Given the description of an element on the screen output the (x, y) to click on. 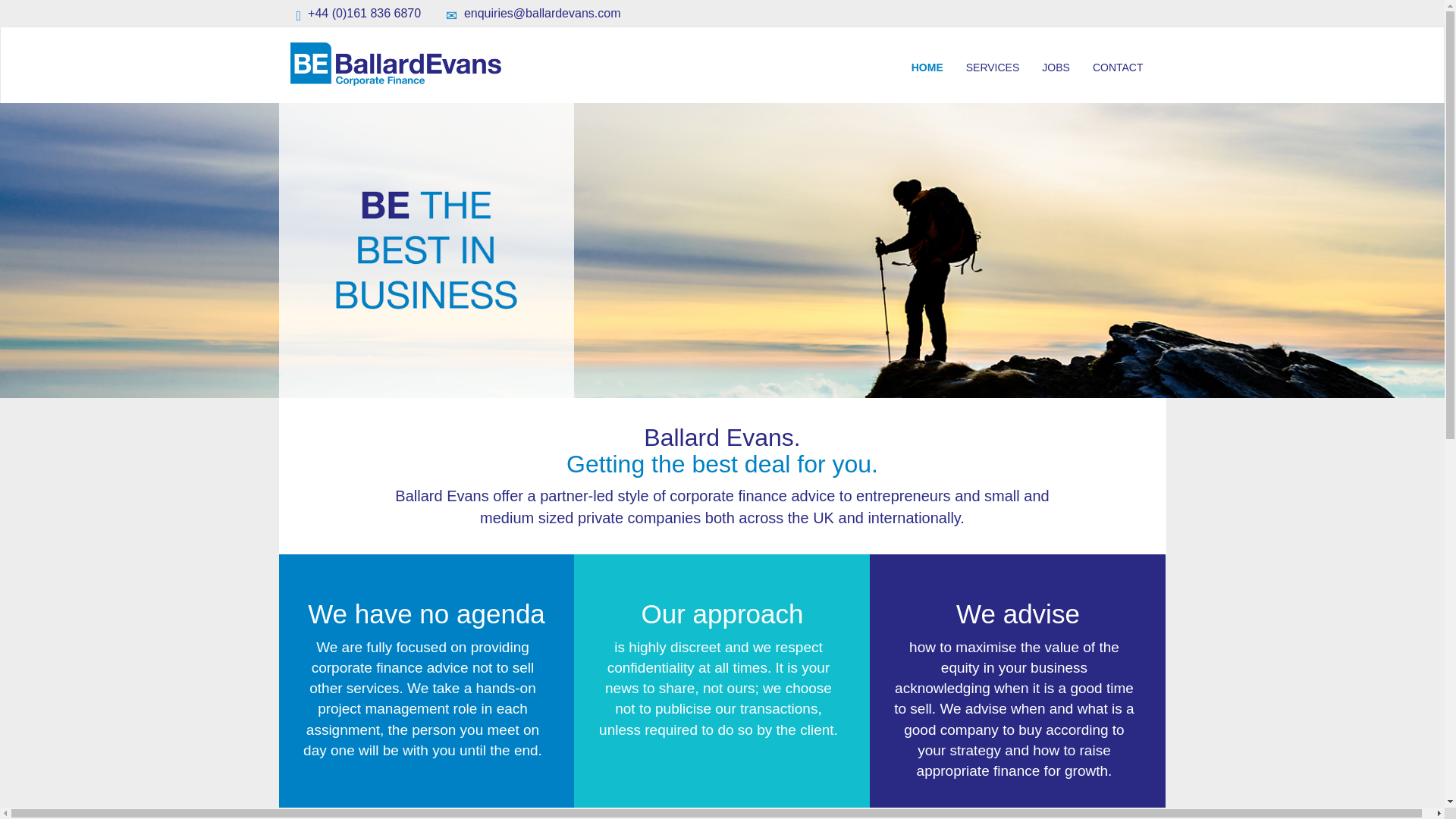
SERVICES (992, 67)
JOBS (1055, 67)
CONTACT (1117, 67)
HOME (927, 67)
